Given the description of an element on the screen output the (x, y) to click on. 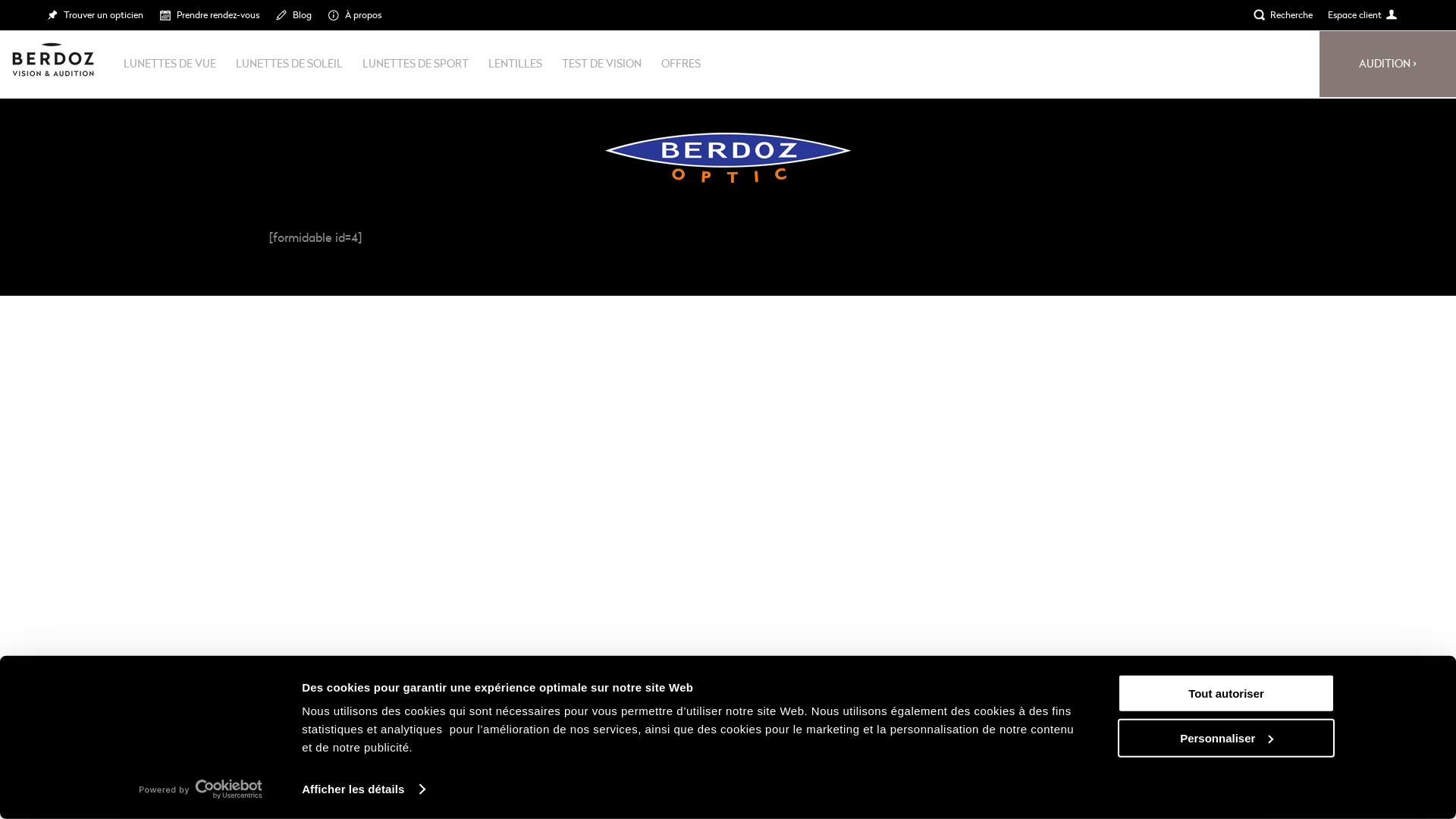
Espace client Element type: text (1354, 14)
LENTILLES Element type: text (515, 63)
LUNETTES DE VUE Element type: text (169, 63)
Blog Element type: text (292, 14)
logo Element type: hover (53, 59)
Personnaliser Element type: text (1225, 737)
Recherche Element type: text (1282, 14)
Trouver un opticien Element type: text (94, 14)
TEST DE VISION Element type: text (601, 63)
Tout autoriser Element type: text (1225, 693)
berdoz_logo-v2 Element type: hover (727, 157)
LUNETTES DE SOLEIL Element type: text (288, 63)
LUNETTES DE SPORT Element type: text (415, 63)
Prendre rendez-vous Element type: text (208, 14)
OFFRES Element type: text (680, 63)
